Given the description of an element on the screen output the (x, y) to click on. 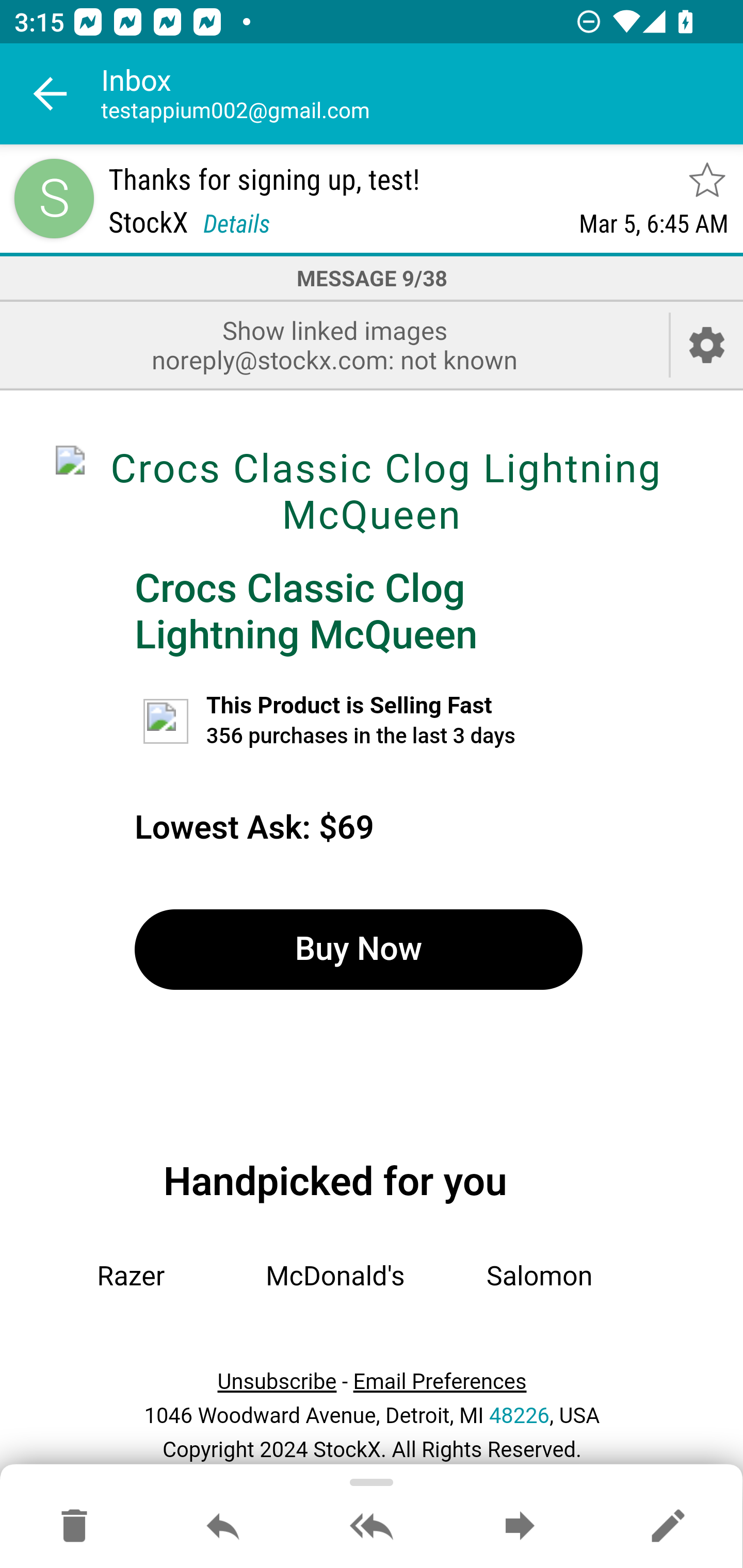
Navigate up (50, 93)
Inbox testappium002@gmail.com (422, 93)
Sender contact button (53, 198)
Show linked images
noreply@stockx.com: not known (334, 344)
Account setup (706, 344)
Crocs Classic Clog Lightning McQueen (371, 491)
Crocs Classic Clog Lightning McQueen (305, 611)
Buy Now (357, 949)
Handpicked for you (334, 1181)
Unsubscribe (276, 1381)
Email Preferences (439, 1381)
48226 (518, 1415)
Move to Deleted (74, 1527)
Reply (222, 1527)
Reply all (371, 1527)
Forward (519, 1527)
Reply as new (667, 1527)
